Given the description of an element on the screen output the (x, y) to click on. 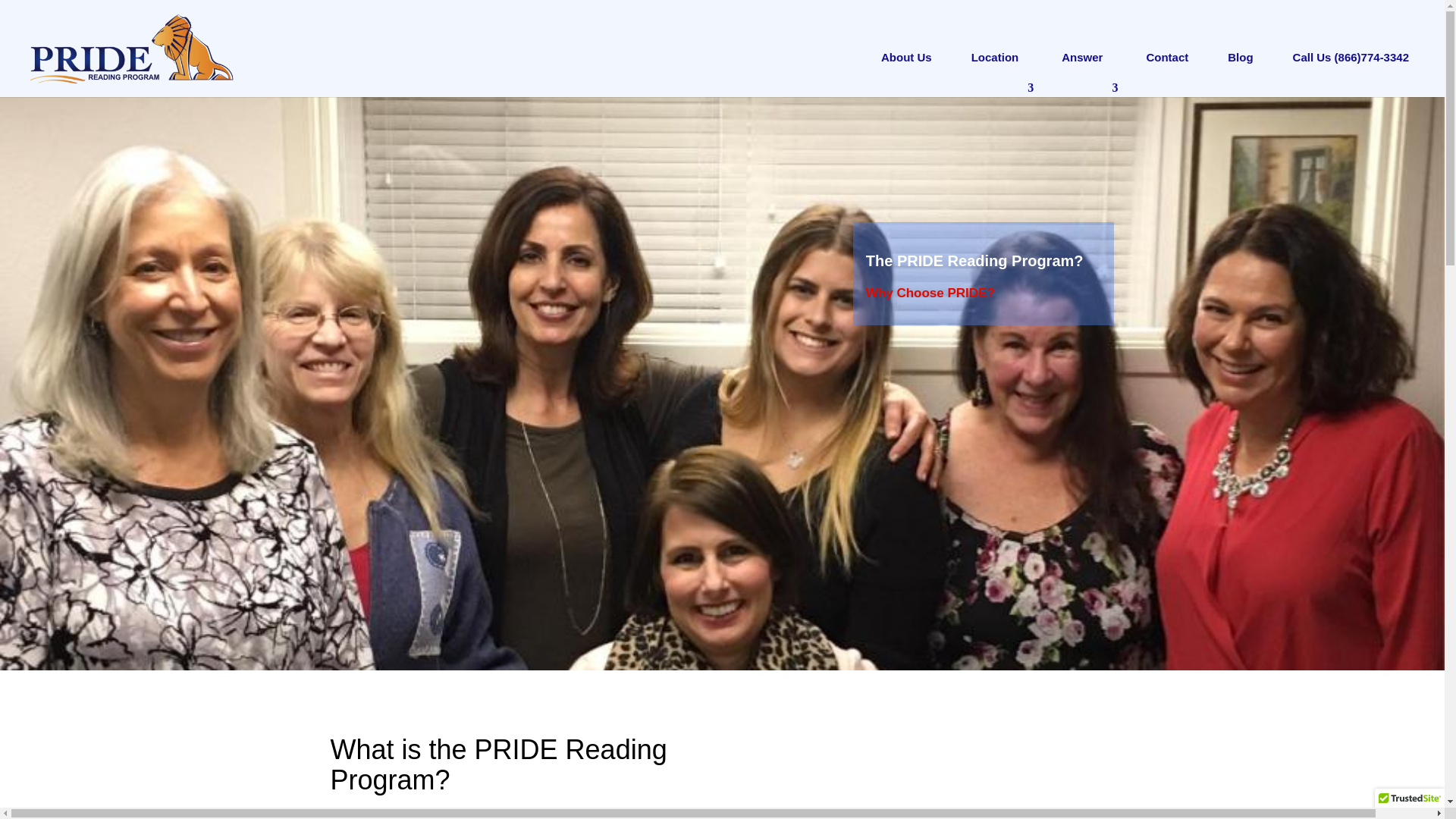
Location (996, 65)
About Us (906, 65)
TrustedSite Certified (1409, 802)
